Given the description of an element on the screen output the (x, y) to click on. 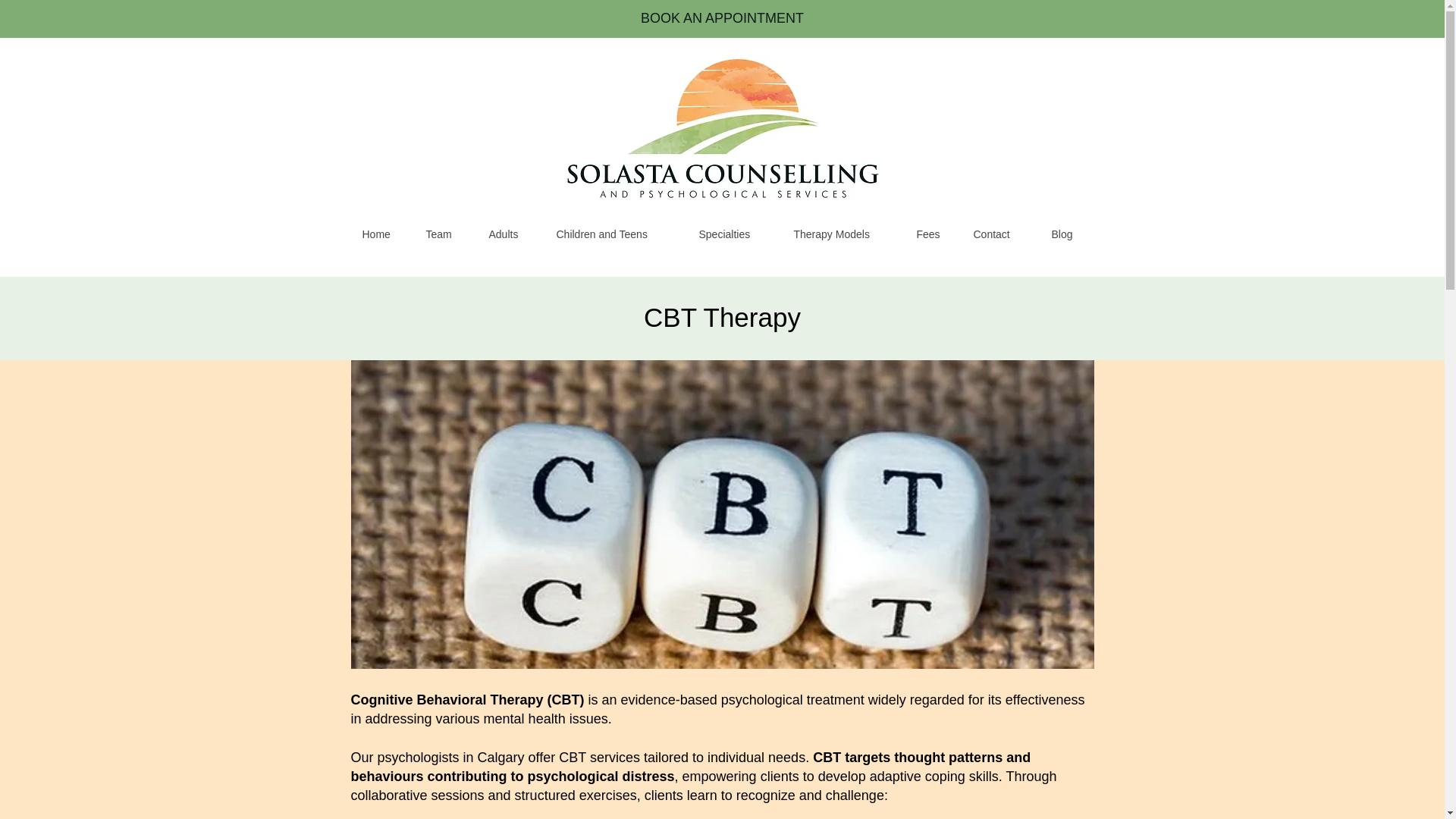
Adults (509, 234)
Therapy Models (842, 234)
Logo.jpg (722, 131)
Specialties (734, 234)
Team (445, 234)
Home (381, 234)
Children and Teens (615, 234)
